Given the description of an element on the screen output the (x, y) to click on. 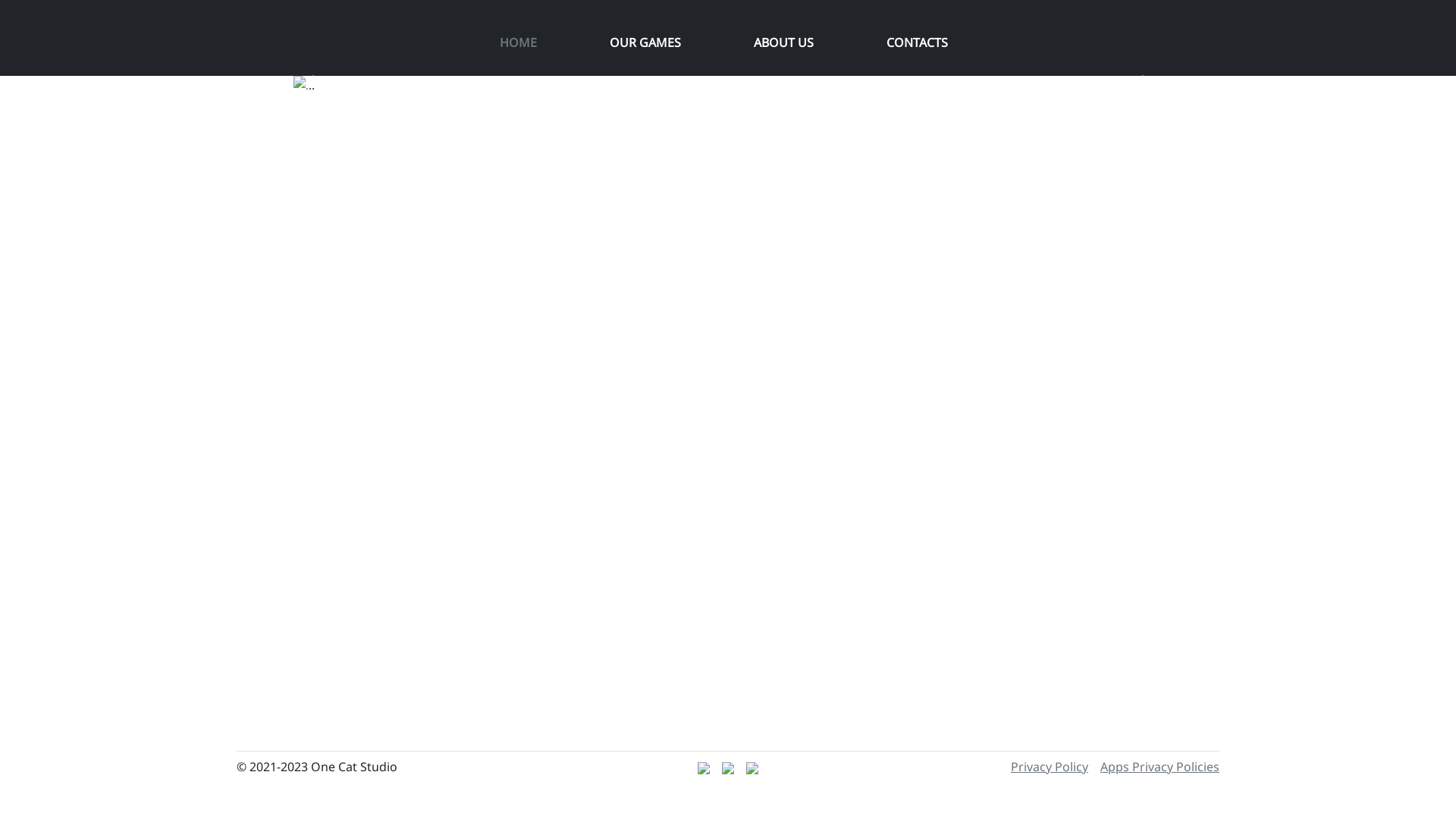
Previous Element type: text (308, 84)
Apps Privacy Policies Element type: text (1159, 766)
CONTACTS Element type: text (916, 42)
Next Element type: text (1147, 84)
ABOUT US Element type: text (783, 42)
OUR GAMES Element type: text (645, 42)
Privacy Policy Element type: text (1049, 766)
HOME Element type: text (517, 42)
